Given the description of an element on the screen output the (x, y) to click on. 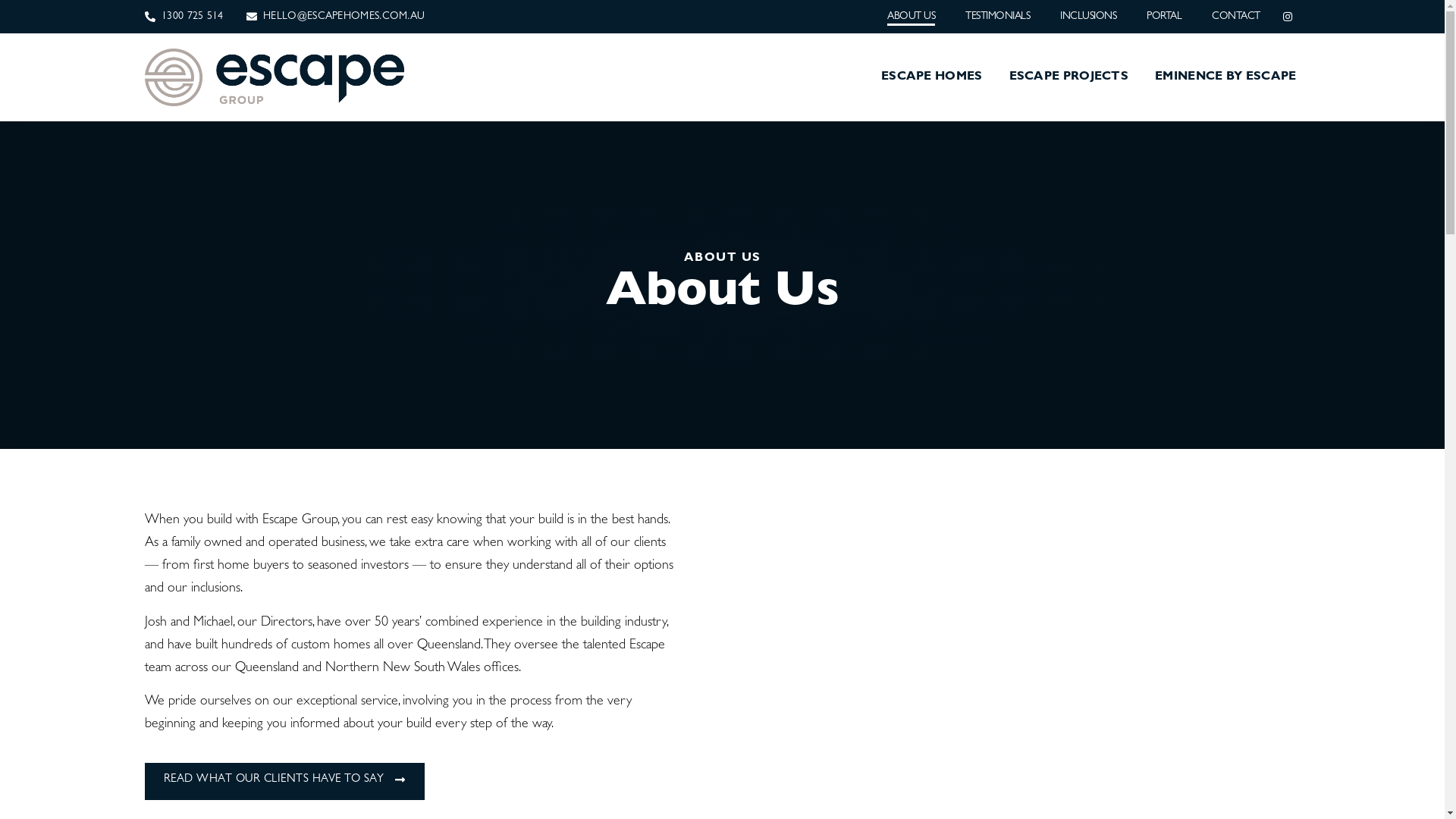
PORTAL Element type: text (1163, 16)
ABOUT US Element type: text (911, 16)
CONTACT Element type: text (1235, 16)
INCLUSIONS Element type: text (1088, 16)
TESTIMONIALS Element type: text (997, 16)
Escape Building Logos Element type: hover (274, 77)
ESCAPE PROJECTS Element type: text (1068, 77)
ESCAPE HOMES Element type: text (931, 77)
HELLO@ESCAPEHOMES.COM.AU Element type: text (335, 16)
1300 725 514 Element type: text (183, 16)
READ WHAT OUR CLIENTS HAVE TO SAY Element type: text (283, 781)
EMINENCE BY ESCAPE Element type: text (1225, 77)
